Given the description of an element on the screen output the (x, y) to click on. 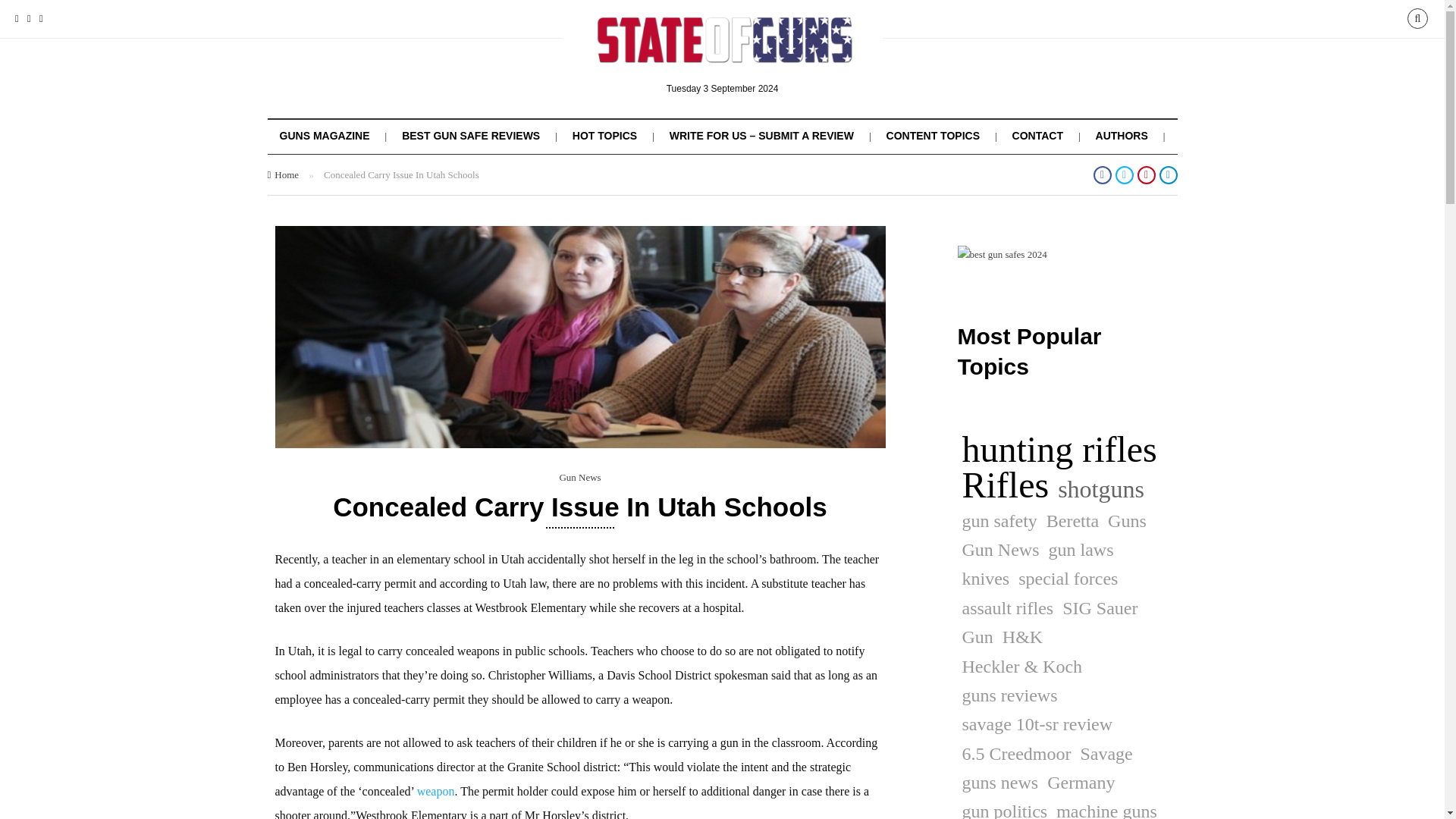
BEST GUN SAFE REVIEWS (470, 135)
GUNS MAGAZINE (324, 135)
State of Guns (722, 52)
CONTENT TOPICS (932, 135)
HOT TOPICS (604, 135)
